Given the description of an element on the screen output the (x, y) to click on. 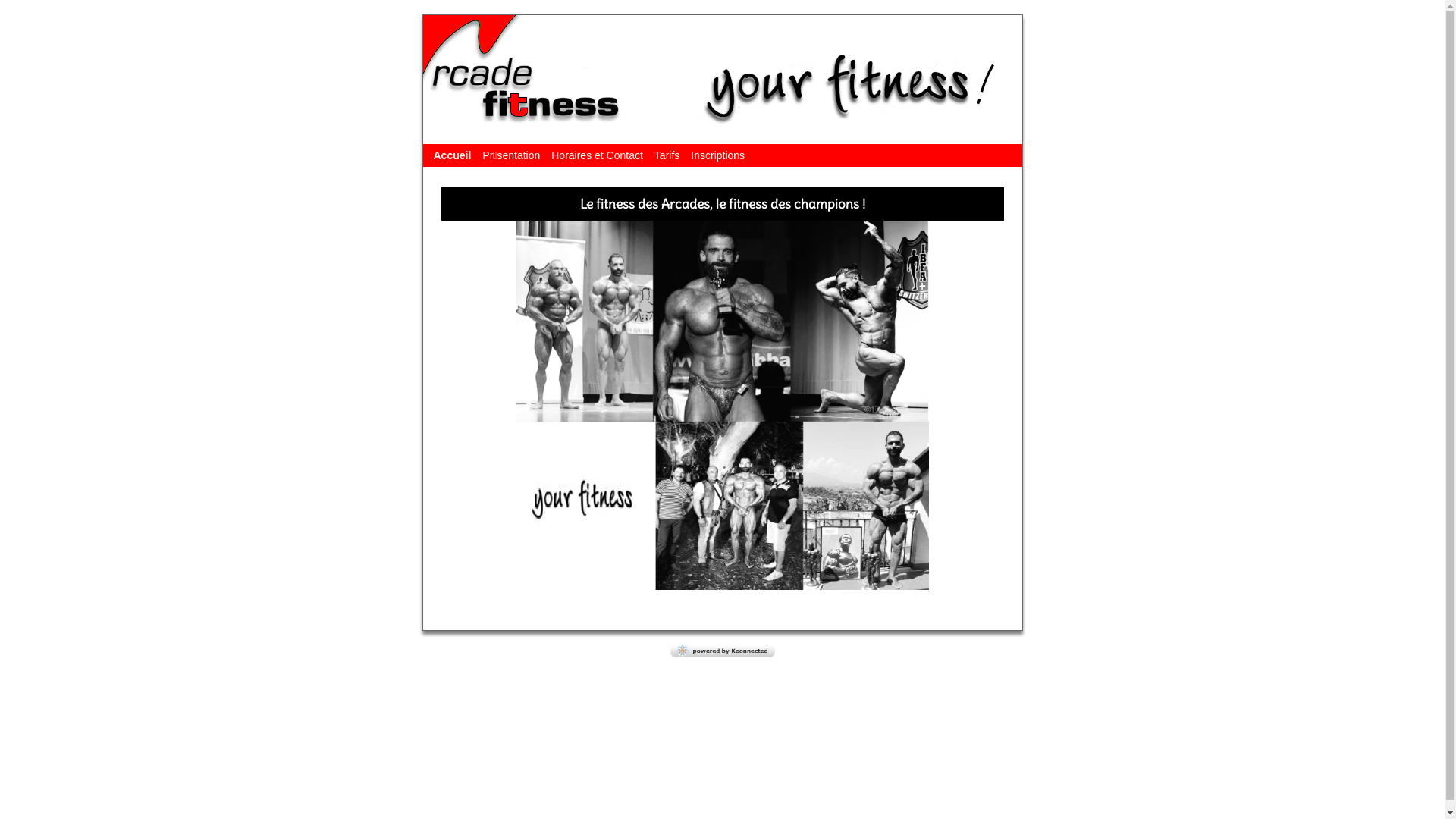
Keonnected Element type: hover (722, 650)
Inscriptions Element type: text (717, 154)
Tarifs Element type: text (666, 154)
Horaires et Contact Element type: text (597, 154)
Keonnected Element type: hover (722, 652)
